Given the description of an element on the screen output the (x, y) to click on. 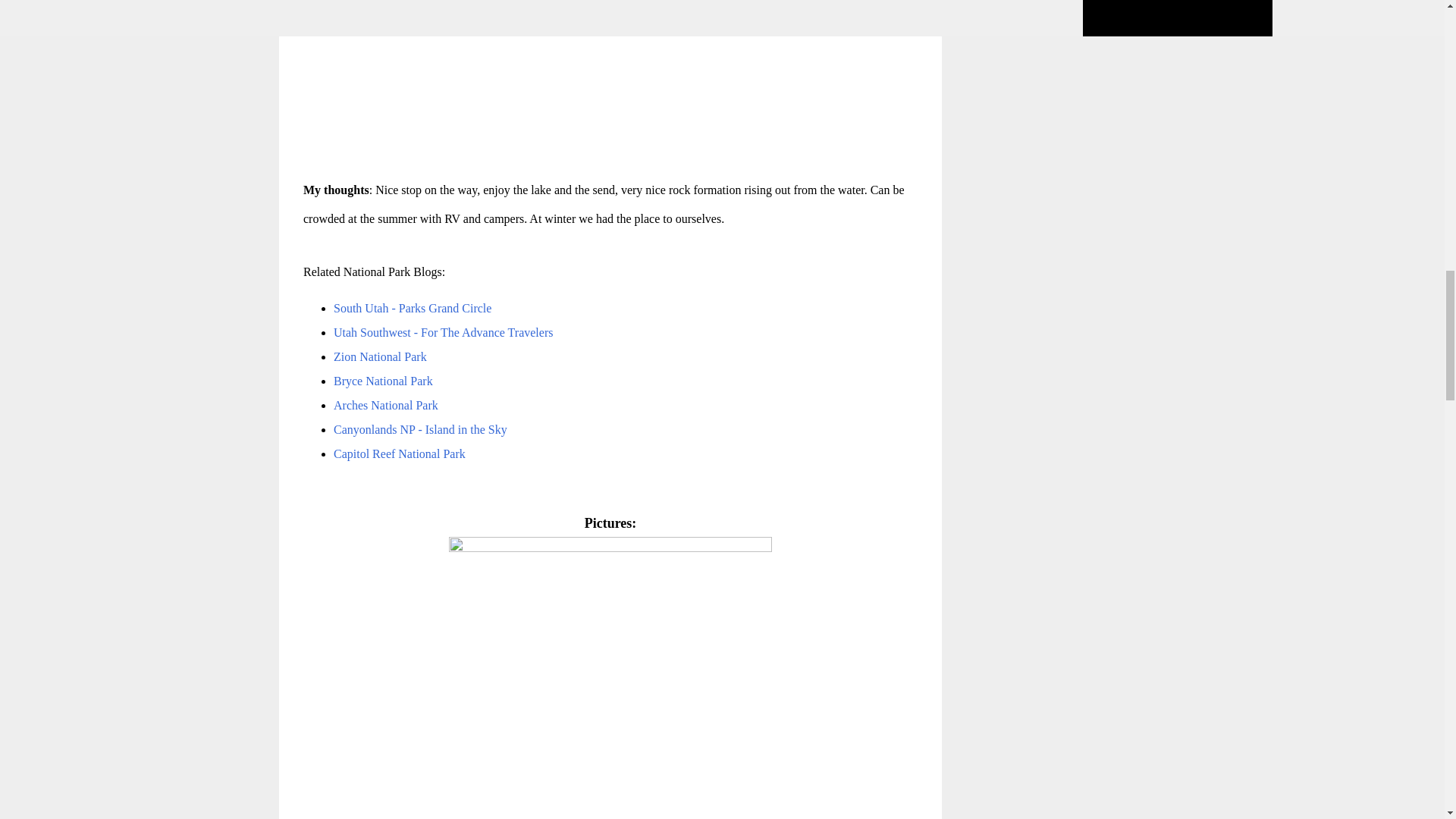
Capitol Reef National Park (399, 453)
Arches National Park (385, 404)
Canyonlands NP - Island in the Sky (419, 429)
Bryce National Park  (384, 380)
South Utah - Parks Grand Circle (412, 308)
Zion National Park (379, 356)
Utah Southwest - For The Advance Travelers (443, 332)
